Given the description of an element on the screen output the (x, y) to click on. 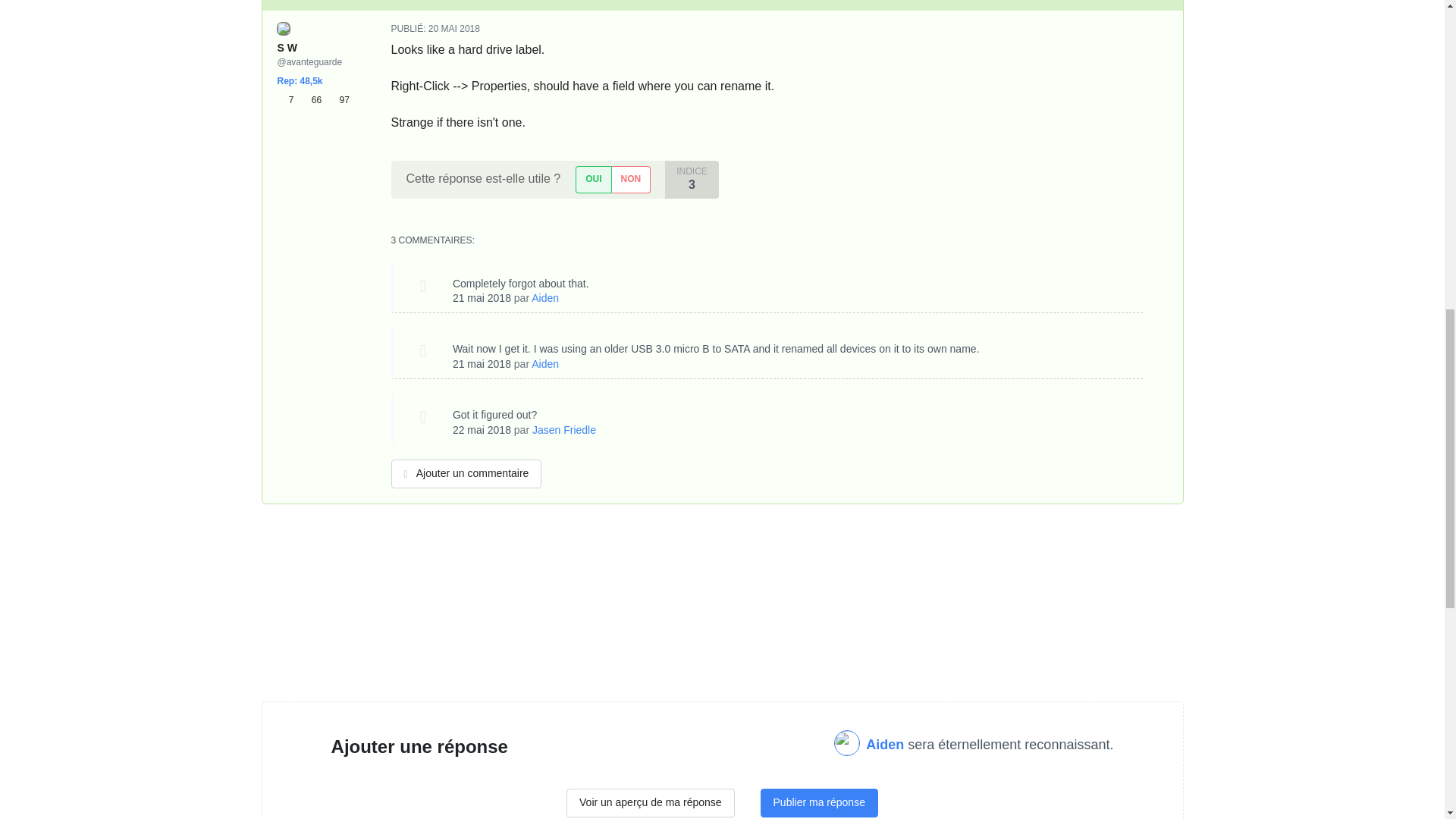
7 66 97 (313, 100)
7 badges Bronze (288, 100)
Sun, 20 May 2018 21:20:52 -0700 (454, 28)
NON (630, 179)
Mon, 21 May 2018 13:30:32 -0700 (481, 363)
66 badges Argent (314, 100)
Mon, 21 May 2018 13:29:29 -0700 (481, 297)
97 badges Or (338, 100)
OUI (592, 179)
Tue, 22 May 2018 08:02:27 -0700 (481, 429)
